Given the description of an element on the screen output the (x, y) to click on. 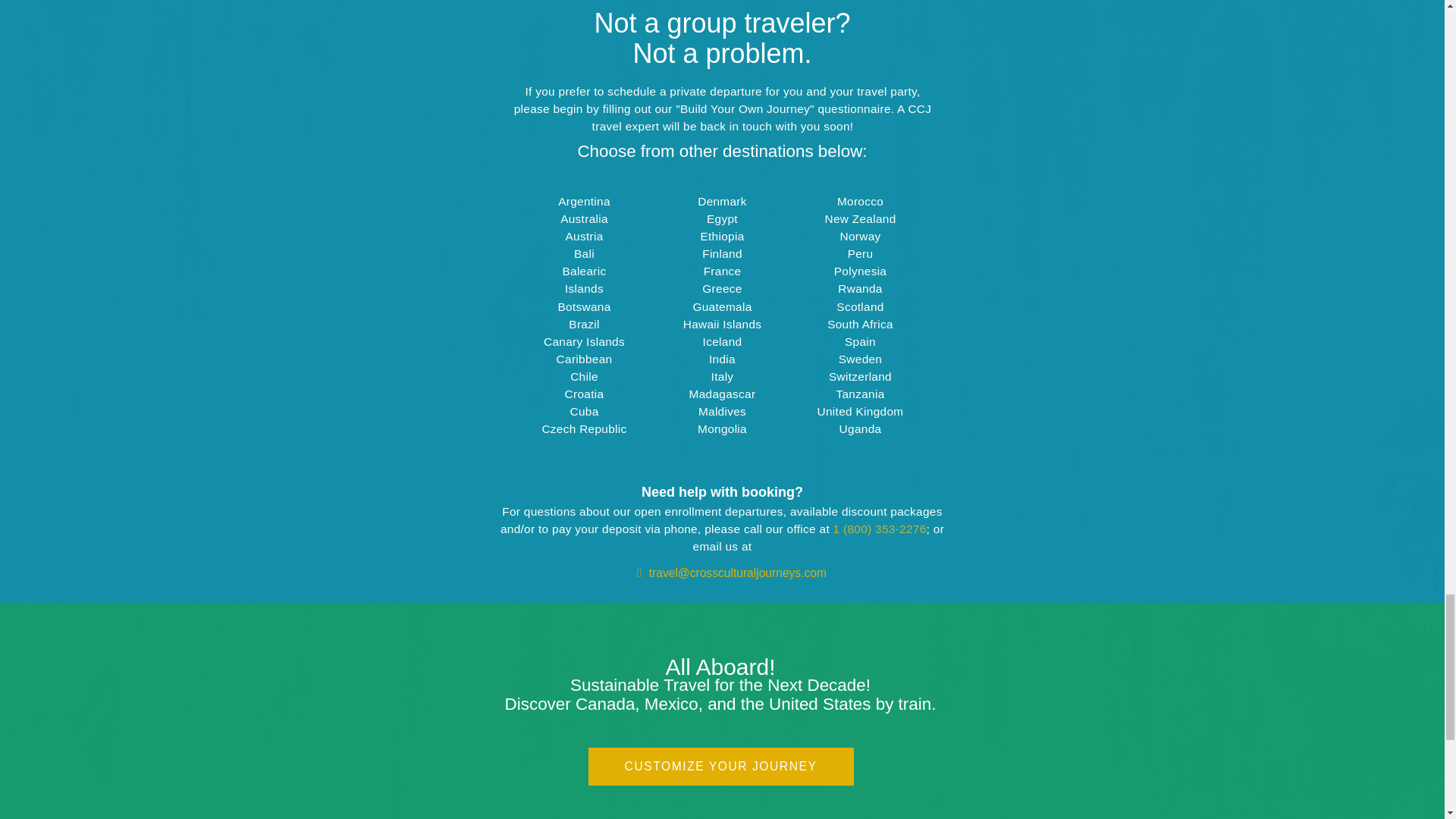
CUSTOMIZE YOUR JOURNEY (720, 766)
